Given the description of an element on the screen output the (x, y) to click on. 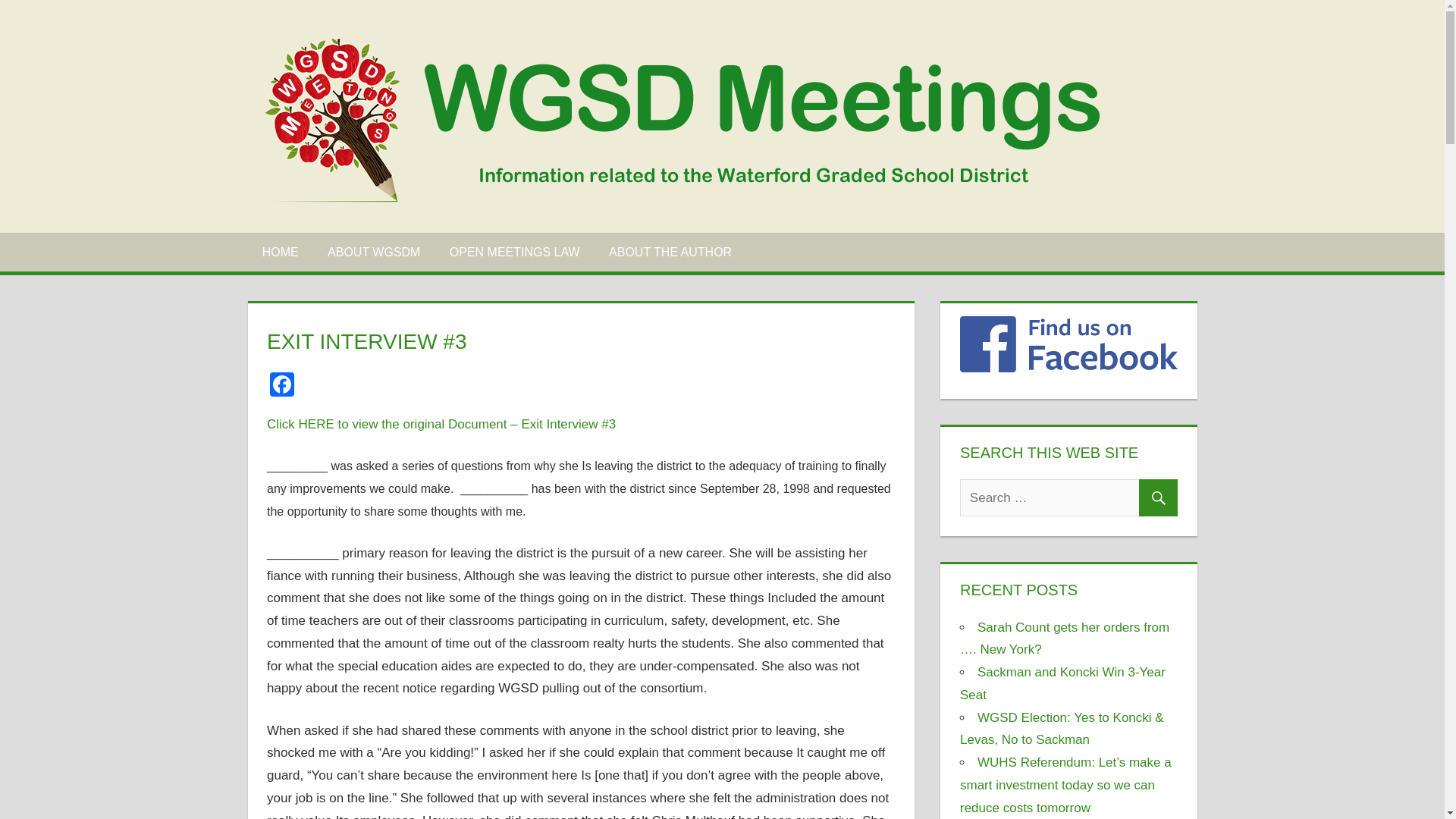
ABOUT WGSDM (374, 251)
OPEN MEETINGS LAW (514, 251)
Search for: (1068, 497)
HOME (280, 251)
Sackman and Koncki Win 3-Year Seat (1062, 683)
Facebook (281, 386)
ABOUT THE AUTHOR (669, 251)
Facebook (281, 386)
